Given the description of an element on the screen output the (x, y) to click on. 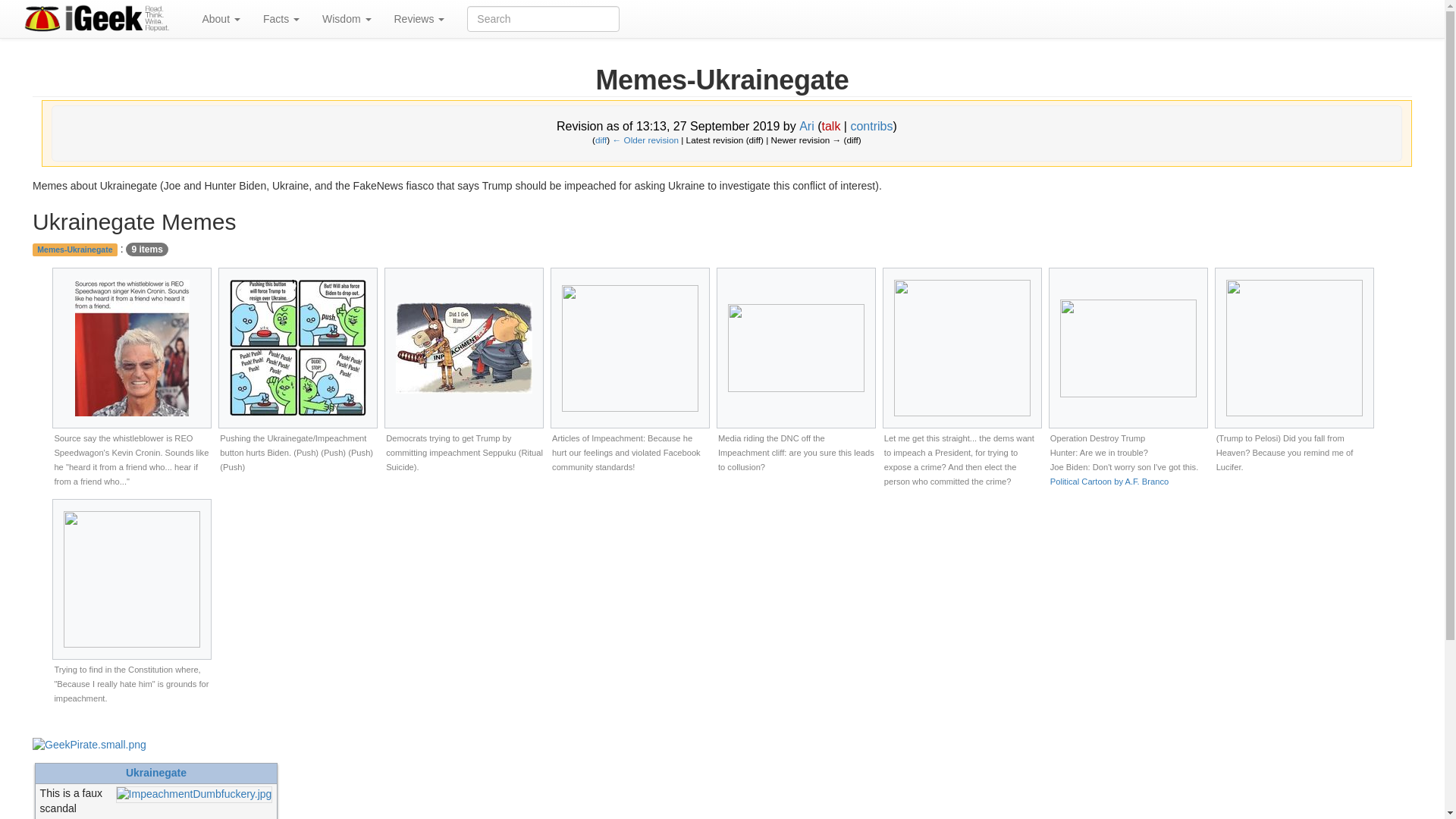
Branco (1109, 481)
Memes-Ukrainegate (645, 139)
Ukrainegate (155, 772)
Facts (281, 18)
Ukrainegate (194, 793)
User:Ari (806, 125)
Wisdom (346, 18)
Main Page (89, 744)
About (220, 18)
Memes-Ukrainegate (601, 139)
Reviews (418, 18)
